Given the description of an element on the screen output the (x, y) to click on. 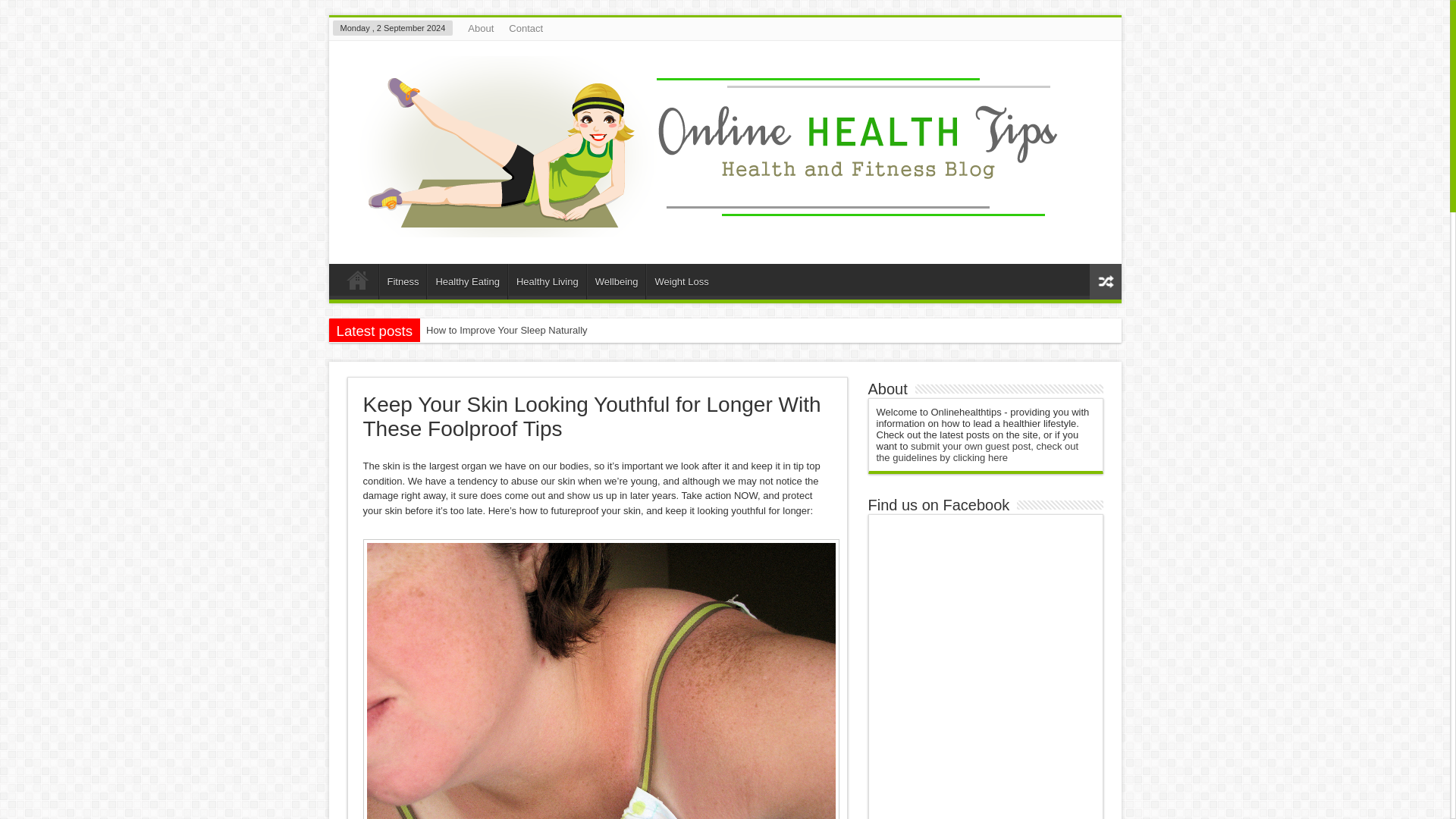
Random Article (1105, 281)
Healthy Living (547, 281)
The Best Weekend Activities for Active Recovery (566, 353)
Healthy Eating (466, 281)
skin (600, 678)
Online Health Tips (718, 226)
About (480, 28)
The Best Weekend Activities for Active Recovery (566, 353)
Fitness (402, 281)
